Given the description of an element on the screen output the (x, y) to click on. 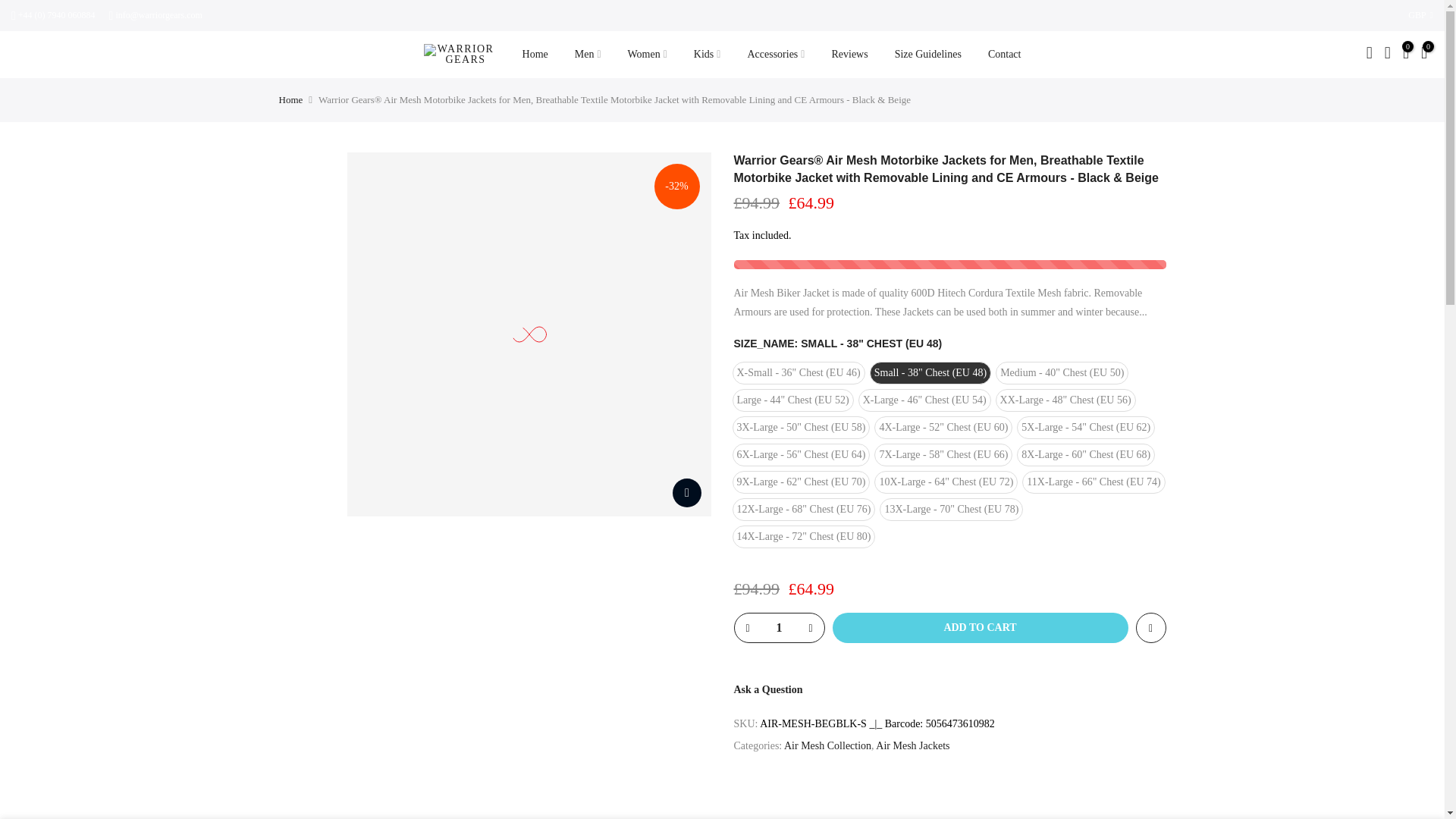
1 (778, 627)
